Given the description of an element on the screen output the (x, y) to click on. 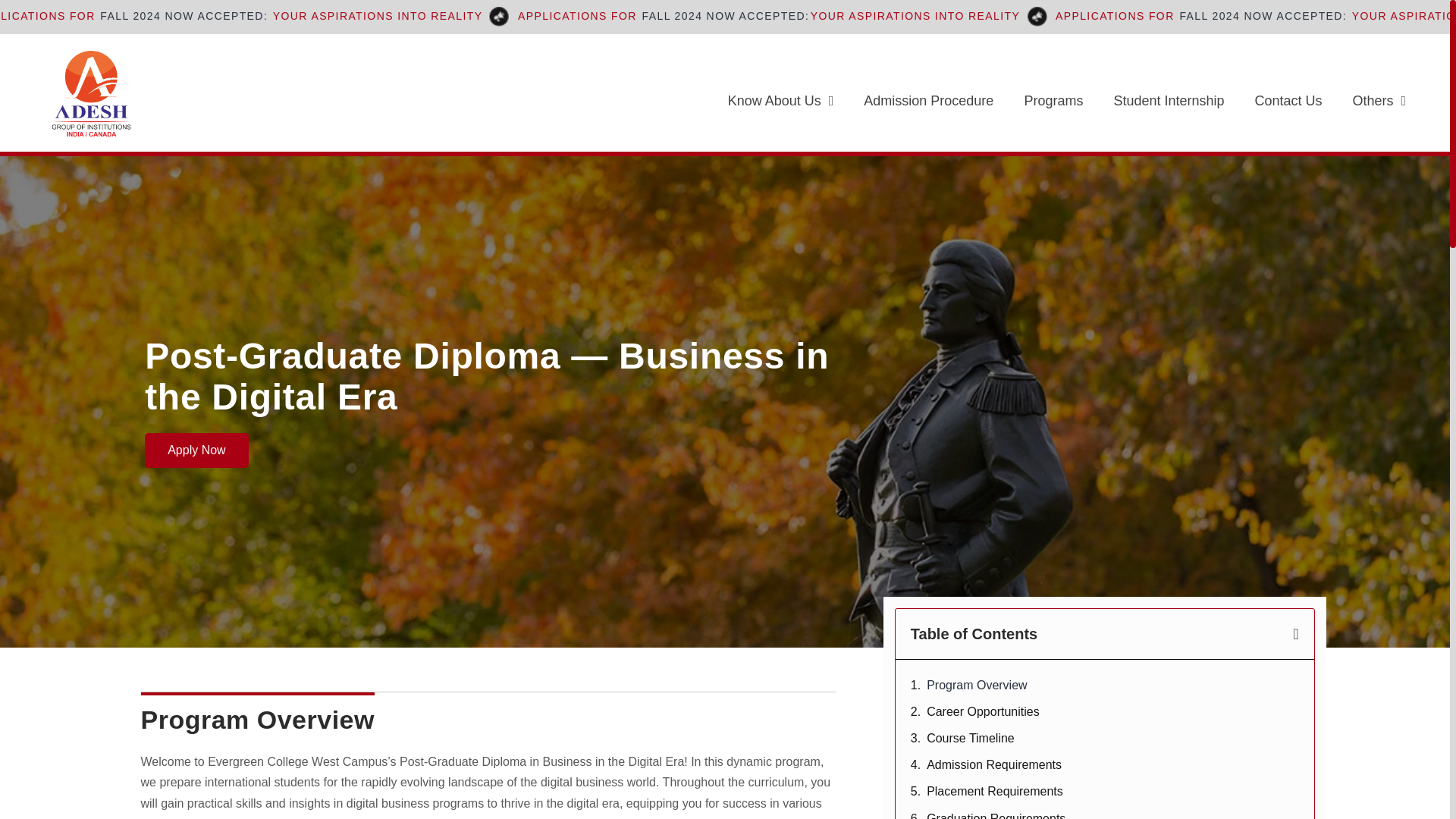
Programs (1053, 100)
Admission Procedure (928, 100)
Others (1380, 100)
Contact Us (1289, 100)
Know About Us (780, 100)
Student Internship (1168, 100)
